Given the description of an element on the screen output the (x, y) to click on. 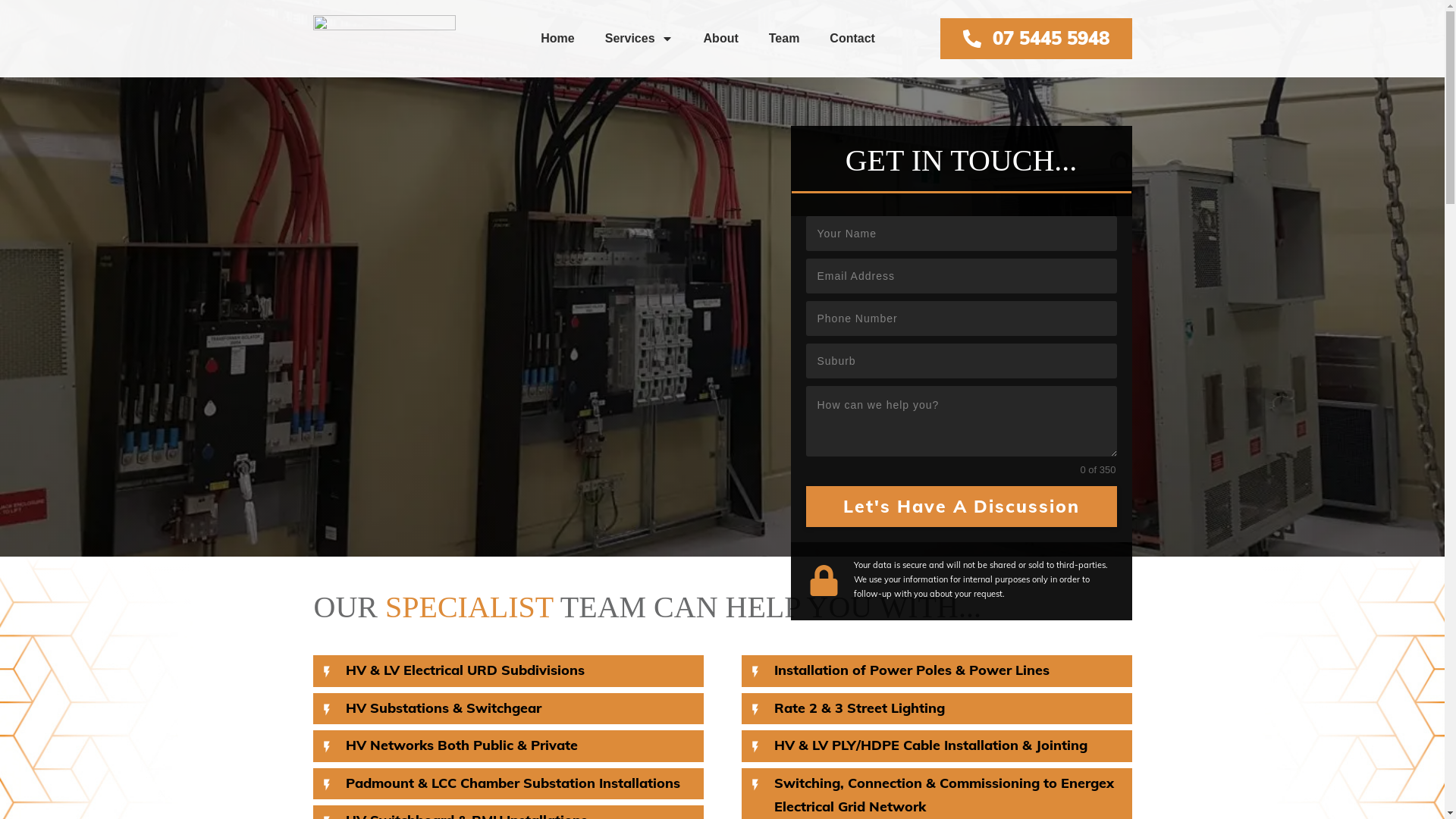
Team Element type: text (784, 38)
07 5445 5948 Element type: text (1036, 38)
Let's Have A Discussion Element type: text (960, 505)
Services Element type: text (639, 38)
Home Element type: text (557, 38)
Contact Element type: text (852, 38)
About Element type: text (720, 38)
